Given the description of an element on the screen output the (x, y) to click on. 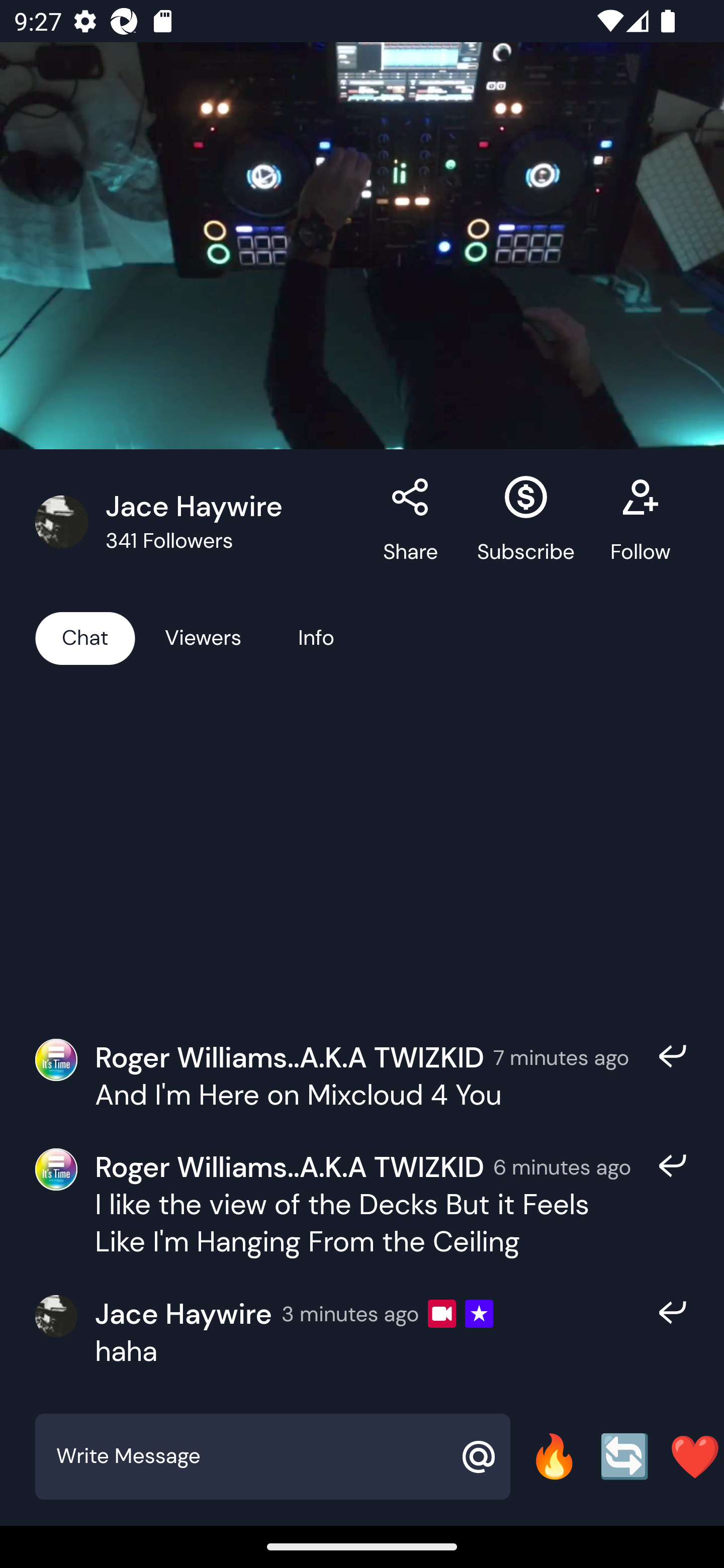
Share (410, 521)
Subscribe (525, 521)
Follow (640, 521)
Chat (84, 636)
Viewers (203, 636)
Info (316, 636)
Roger Williams..A.K.A TWIZKID (289, 1056)
Roger Williams..A.K.A TWIZKID (289, 1166)
Jace Haywire (183, 1313)
Write Message (250, 1456)
🔥 (553, 1456)
🔄 (624, 1456)
❤️ (694, 1456)
